Given the description of an element on the screen output the (x, y) to click on. 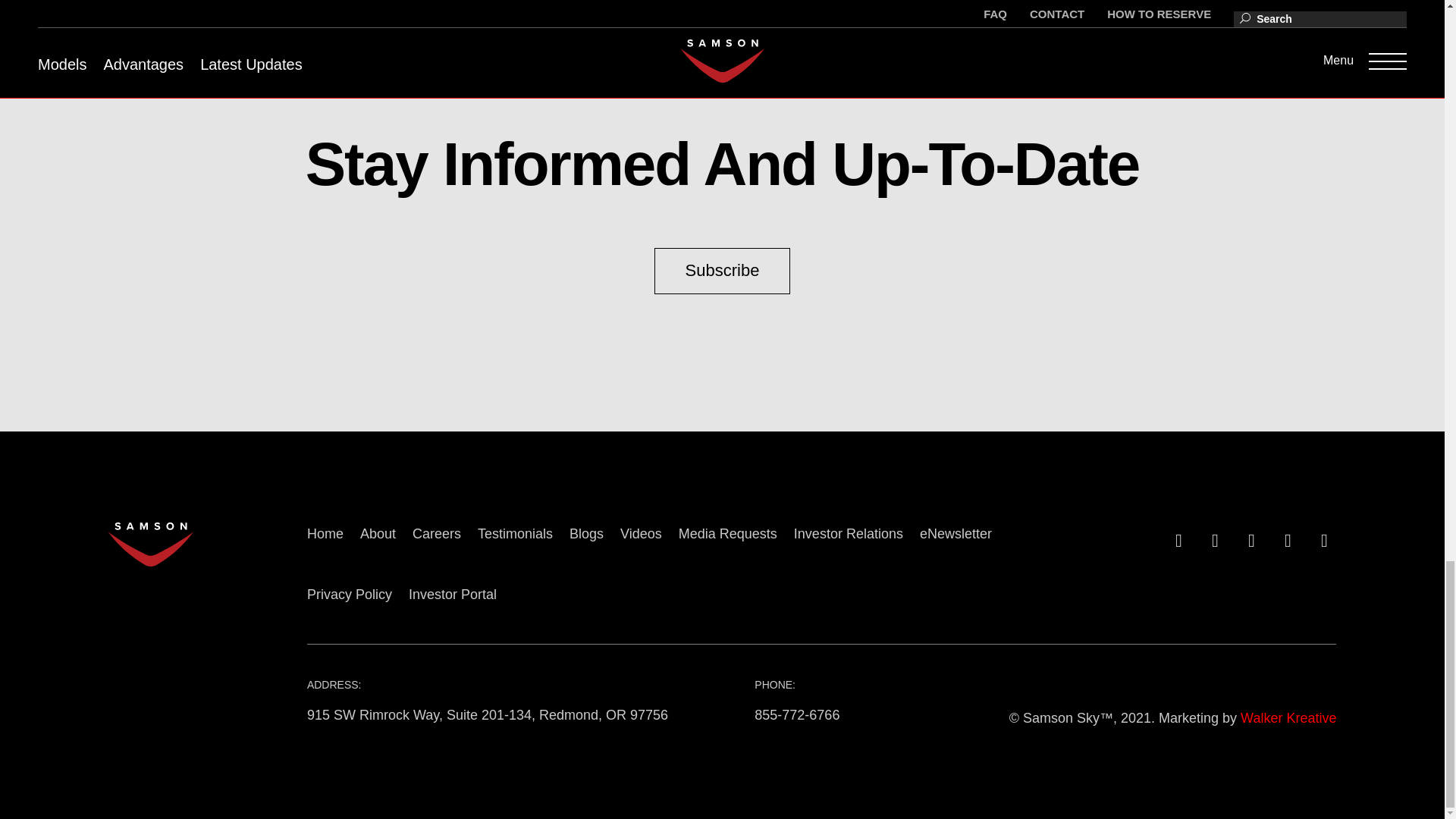
Follow on Youtube (1321, 537)
Follow on Instagram (1284, 537)
Follow on LinkedIn (1248, 537)
Follow on X (1211, 537)
Follow on Facebook (1175, 537)
